Given the description of an element on the screen output the (x, y) to click on. 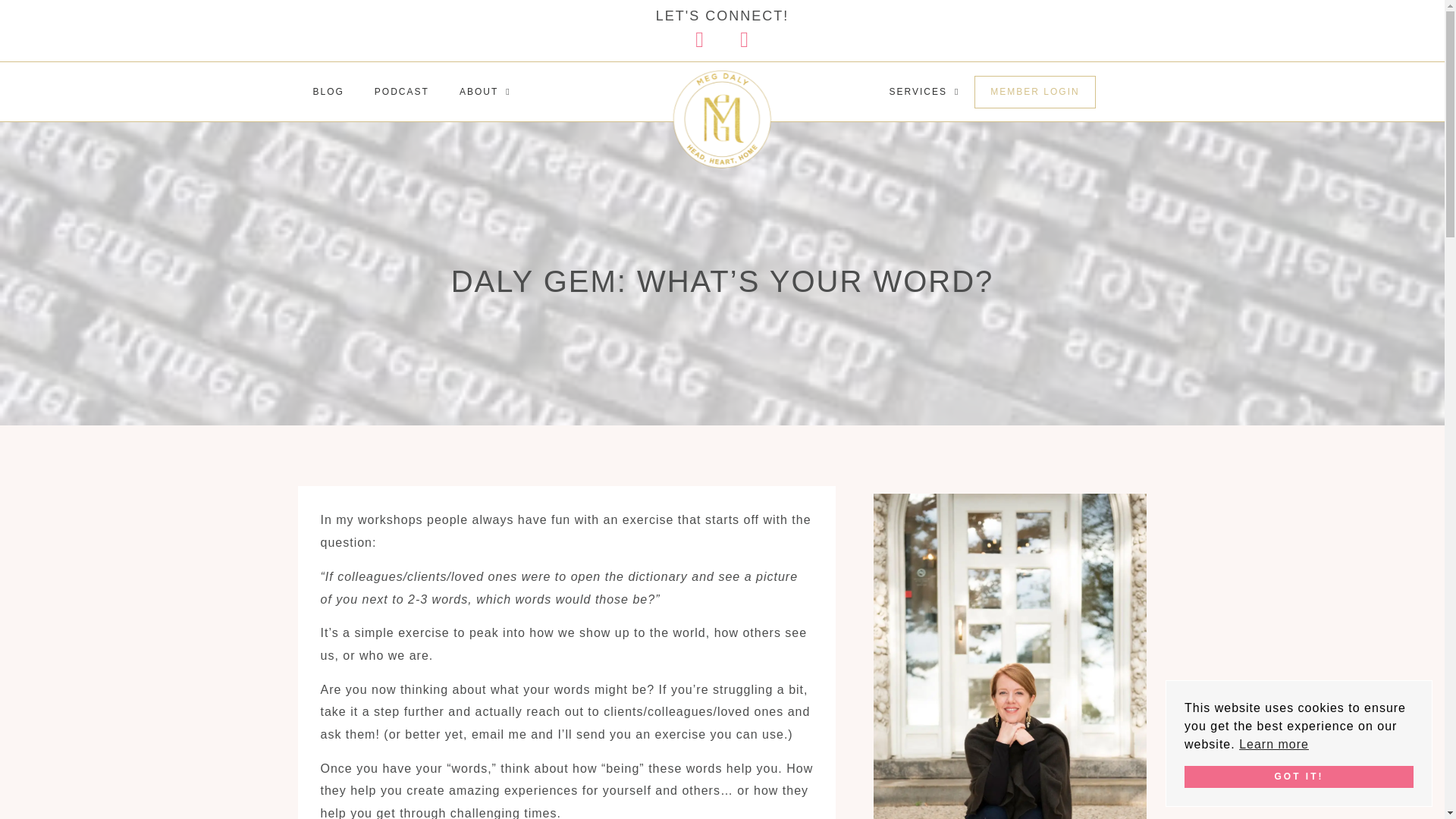
BLOG (327, 91)
GOT IT! (1299, 776)
SERVICES (923, 91)
Instagram (744, 39)
PODCAST (401, 91)
Facebook (700, 39)
MEMBER LOGIN (1034, 91)
ABOUT (484, 91)
Learn more (1273, 744)
